Given the description of an element on the screen output the (x, y) to click on. 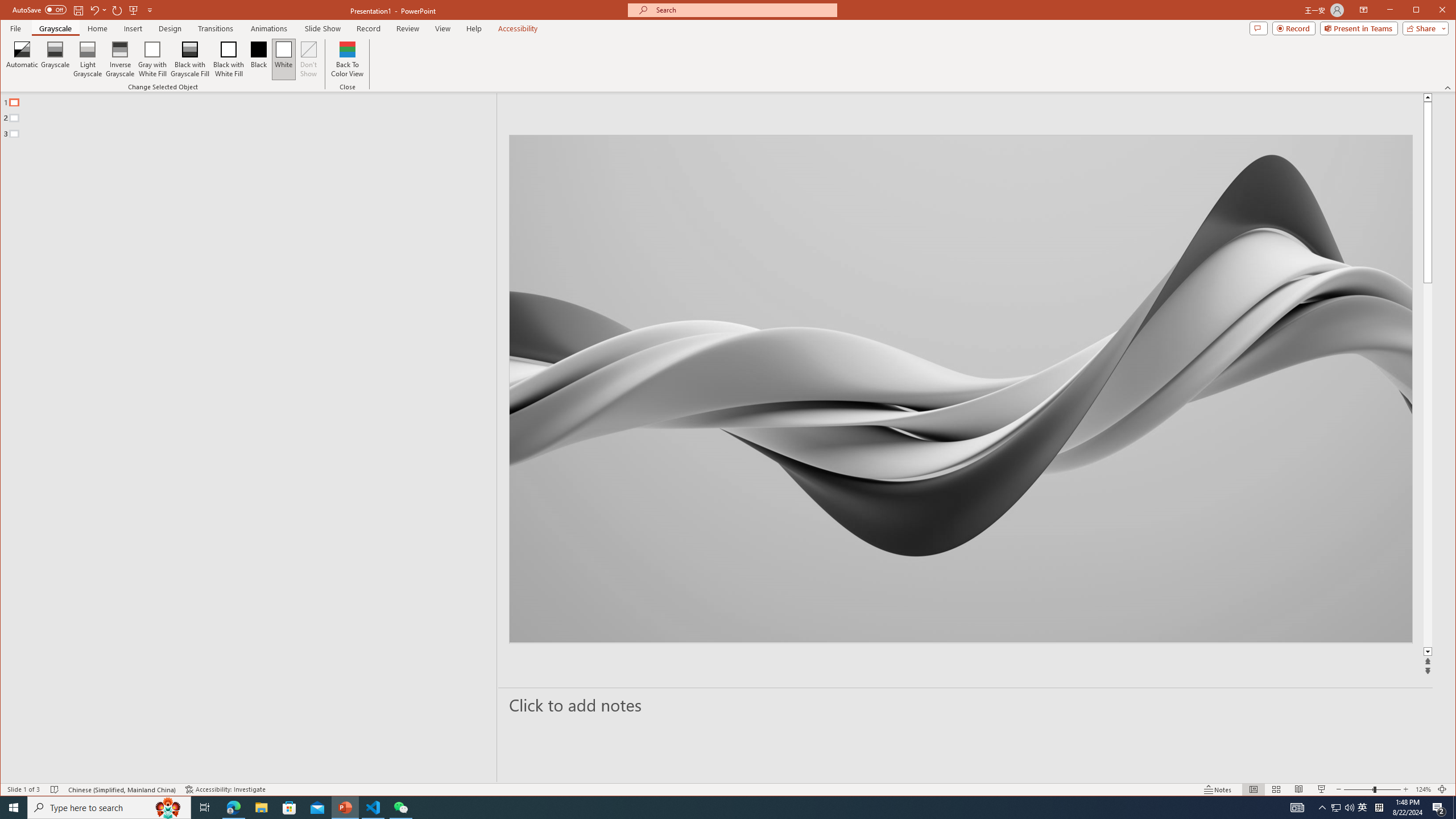
Outline (252, 115)
Black (258, 59)
Running applications (707, 807)
Grayscale (55, 59)
Slide Notes (965, 704)
